Given the description of an element on the screen output the (x, y) to click on. 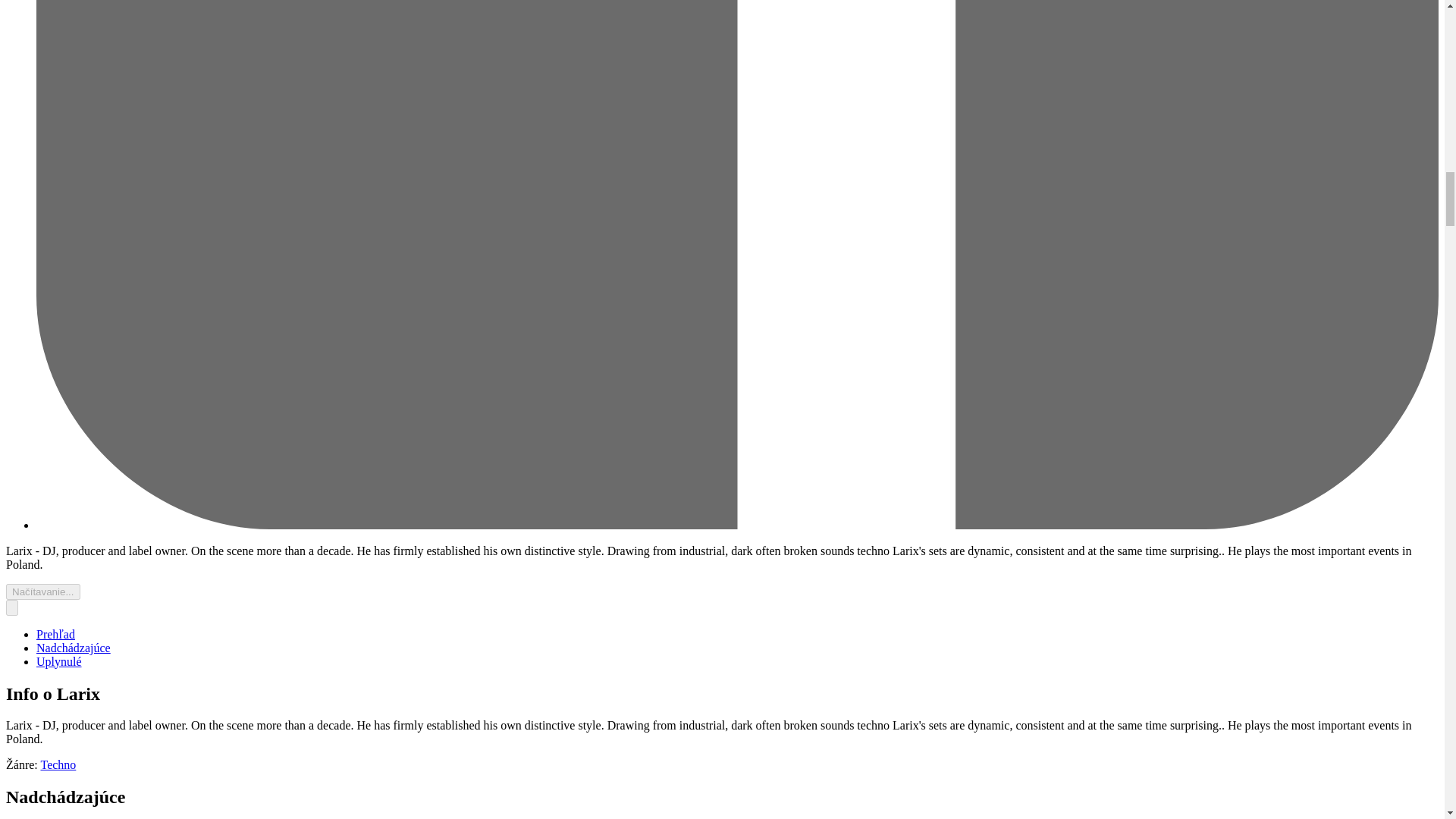
Techno (57, 764)
